Given the description of an element on the screen output the (x, y) to click on. 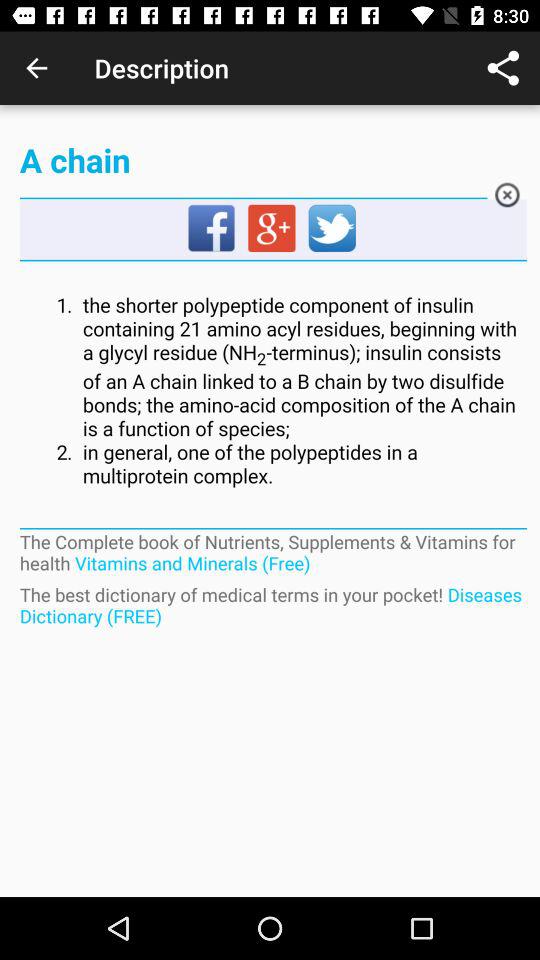
google account switch option (273, 229)
